Given the description of an element on the screen output the (x, y) to click on. 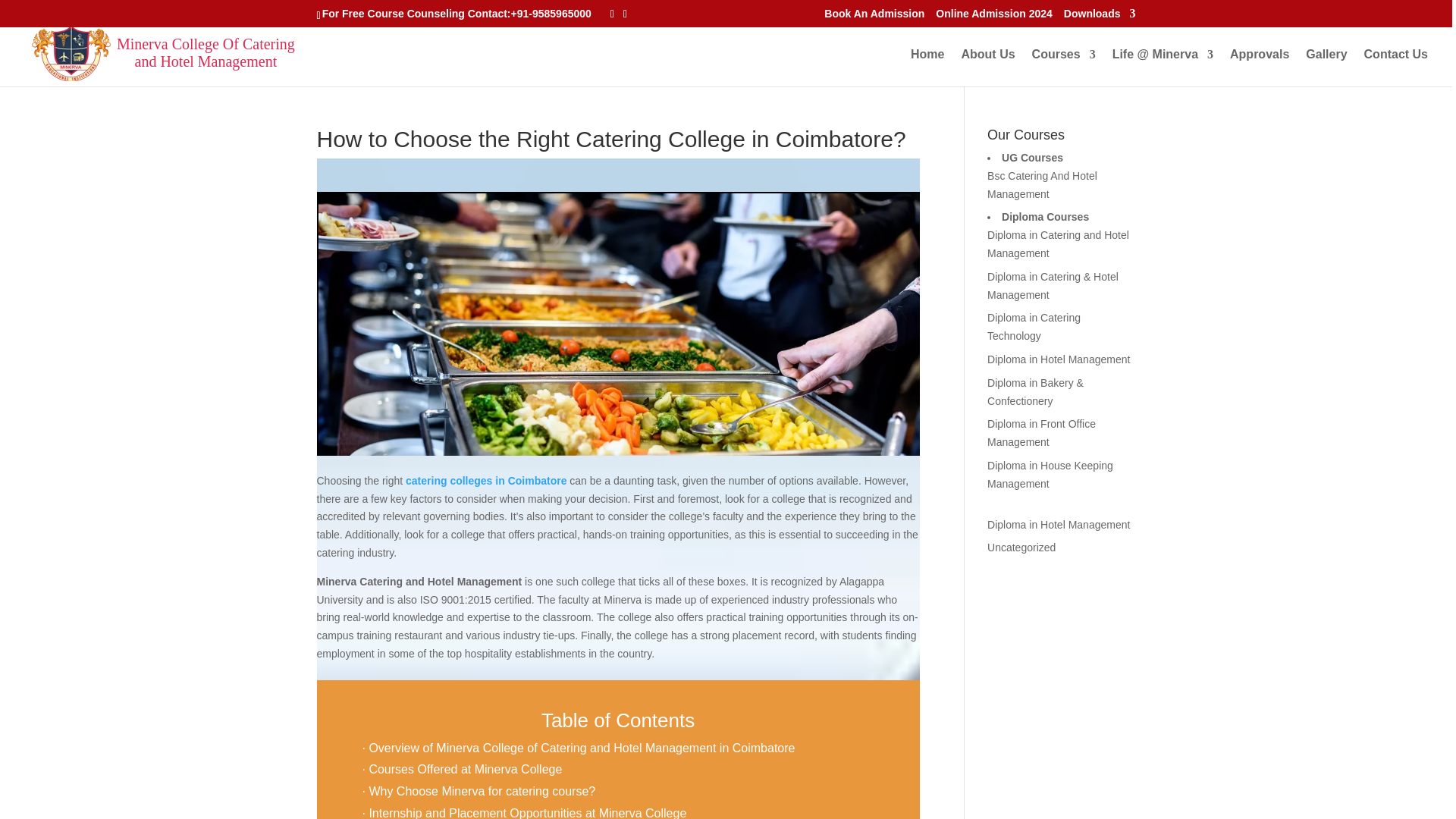
Gallery (1326, 67)
Book An Admission (874, 16)
About Us (987, 67)
Online Admission 2024 (994, 16)
Approvals (1259, 67)
Home (927, 67)
Courses (160, 52)
Contact Us (1064, 67)
catering colleges in Coimbatore (1396, 67)
Downloads (486, 480)
